Given the description of an element on the screen output the (x, y) to click on. 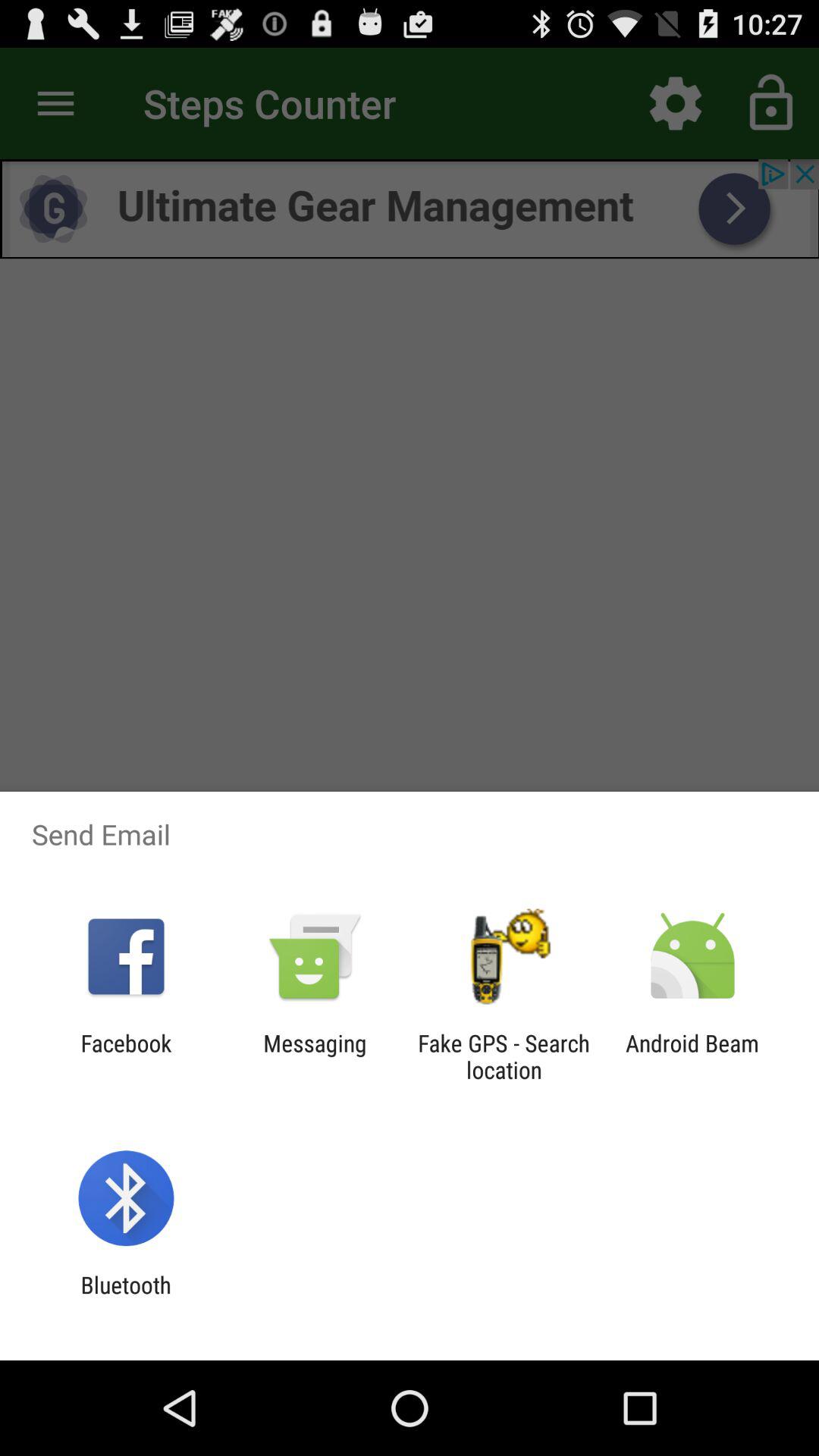
launch item next to the fake gps search icon (314, 1056)
